Given the description of an element on the screen output the (x, y) to click on. 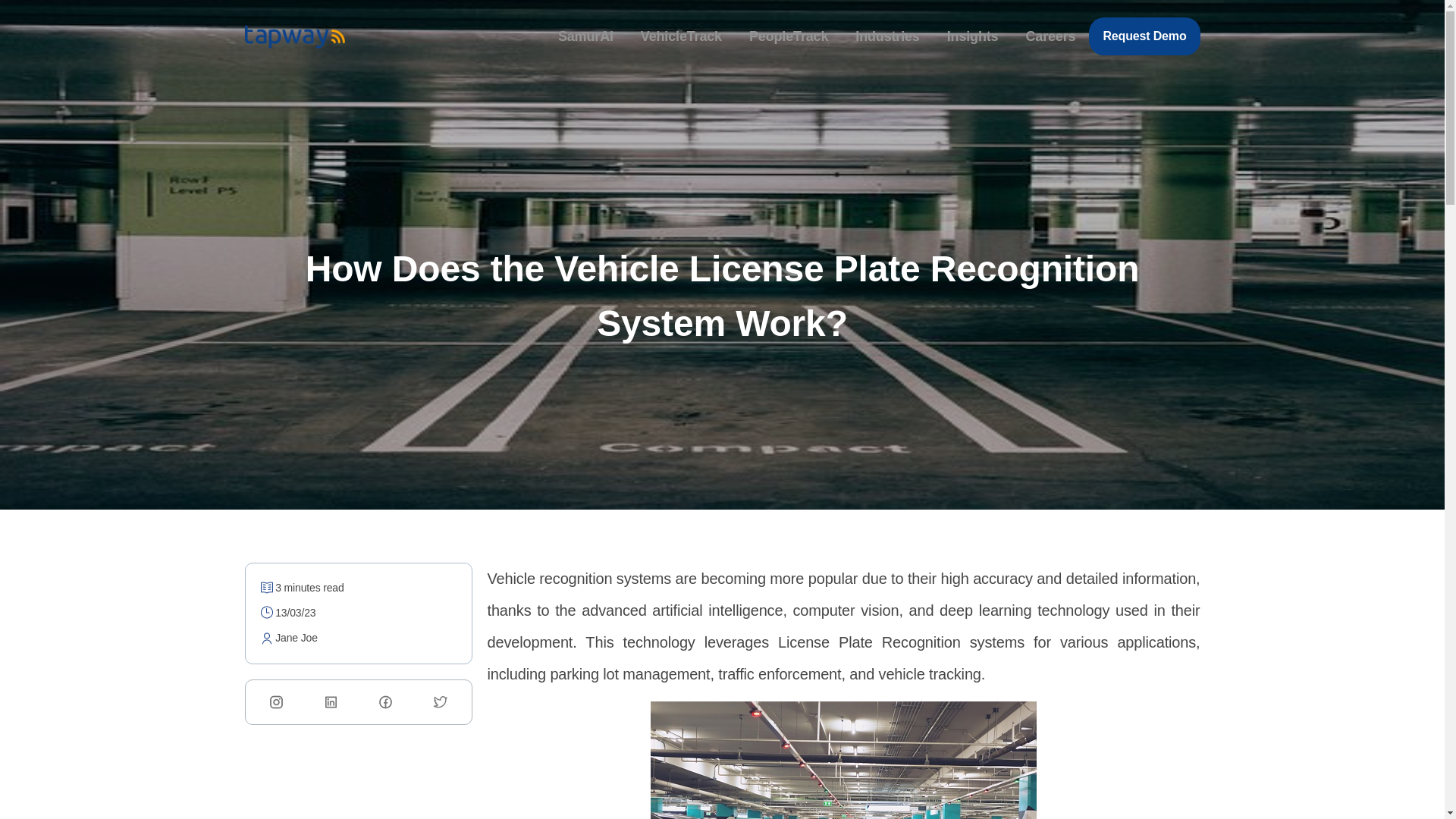
PeopleTrack (786, 36)
SamurAI (585, 36)
Request Demo (1144, 36)
Insights (972, 36)
PeopleTrack (788, 36)
VehicleTrack (681, 36)
VehicleTrack (676, 36)
Industries (886, 36)
Careers (1050, 36)
SamurAI (580, 36)
